Given the description of an element on the screen output the (x, y) to click on. 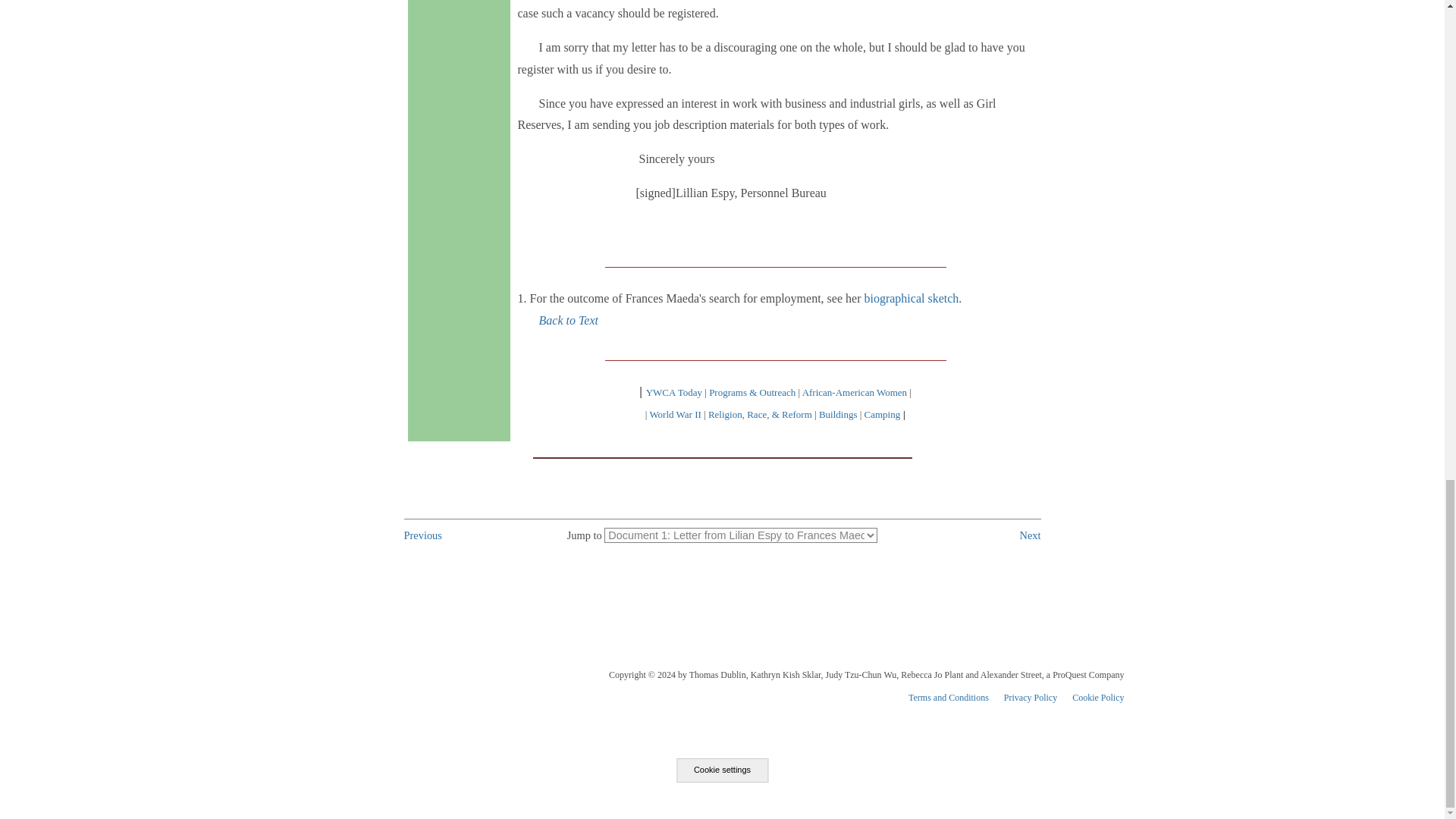
Buildings (837, 414)
World War II (674, 414)
Privacy Policy (1030, 697)
Terms and Conditions (948, 697)
Cookie settings (722, 770)
biographical sketch (910, 297)
YWCA Today (673, 392)
Next (1030, 535)
Camping (882, 414)
Cookie Policy (1097, 697)
